Given the description of an element on the screen output the (x, y) to click on. 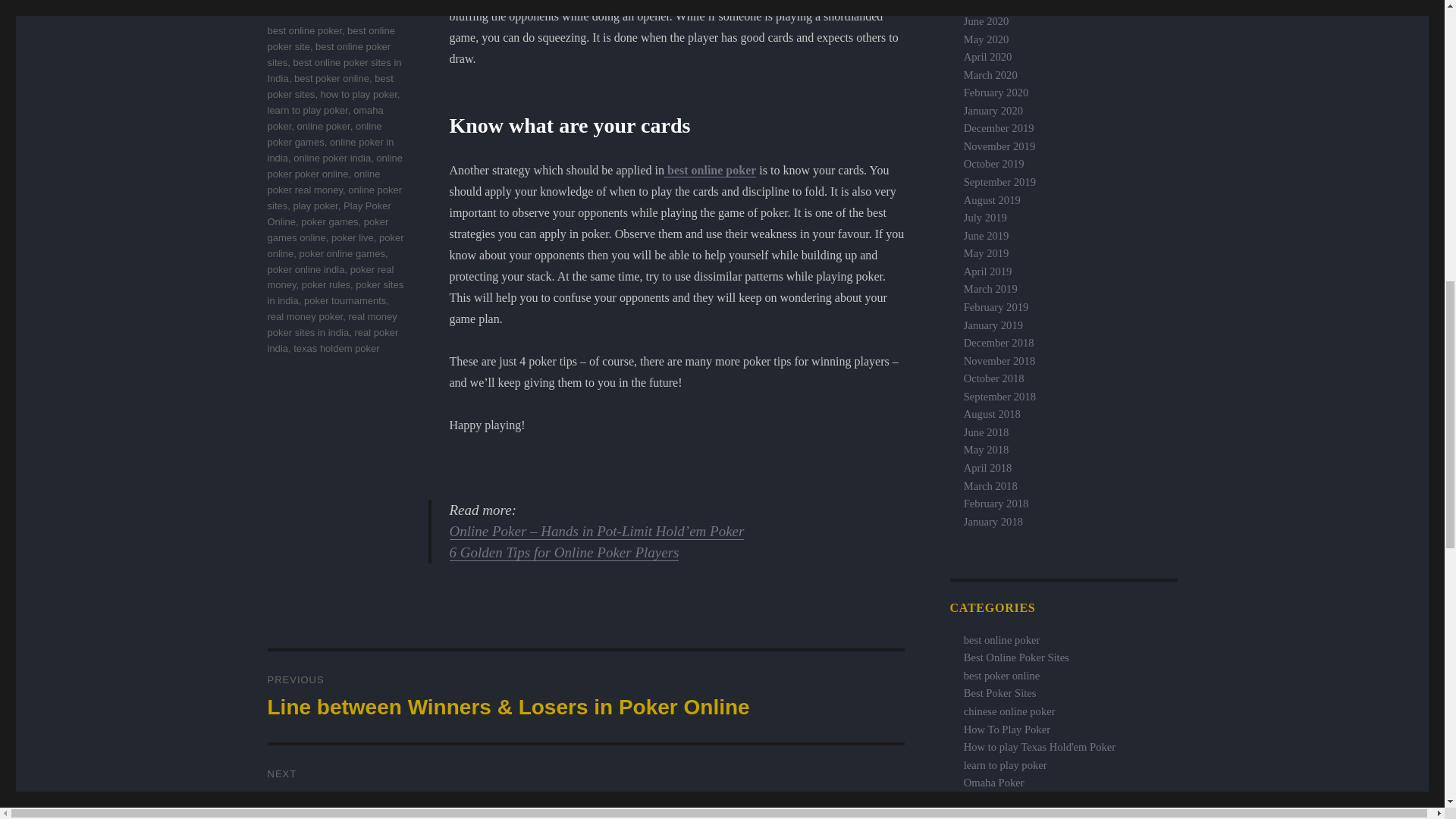
Play poker online at the best poker sites in India PokerLion (999, 693)
6 Golden Tips for Online Poker Players (564, 552)
best online poker (709, 169)
